Given the description of an element on the screen output the (x, y) to click on. 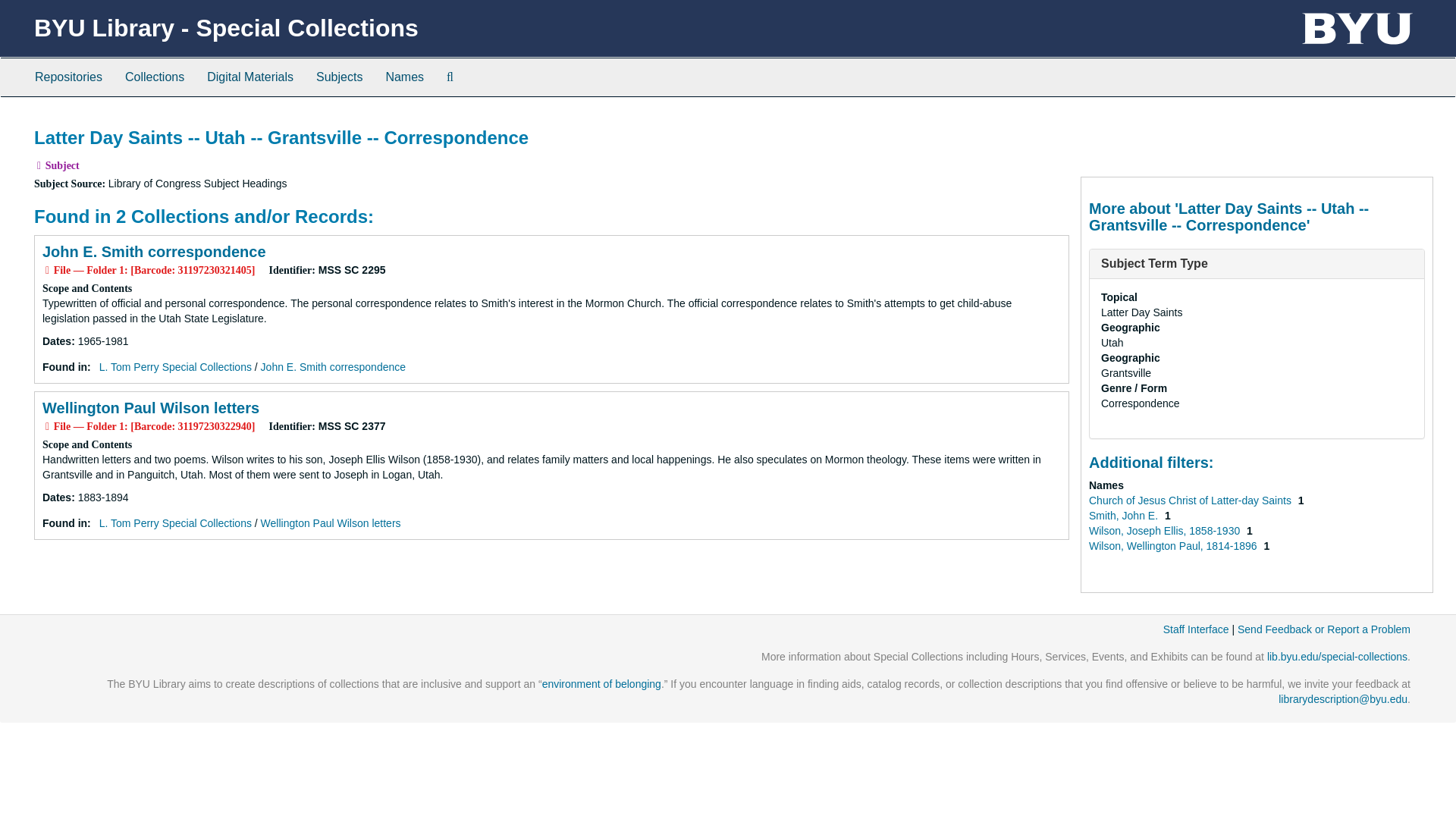
Church of Jesus Christ of Latter-day Saints (1191, 500)
environment of belonging (601, 684)
Staff Interface (1195, 629)
Filter By 'Wilson, Wellington Paul, 1814-1896' (1174, 545)
Send Feedback or Report a Problem (1323, 629)
Subject Term Type (1154, 263)
John E. Smith correspondence (154, 251)
Filter By 'Church of Jesus Christ of Latter-day Saints' (1191, 500)
Digital Materials (249, 77)
L. Tom Perry Special Collections (175, 367)
